Given the description of an element on the screen output the (x, y) to click on. 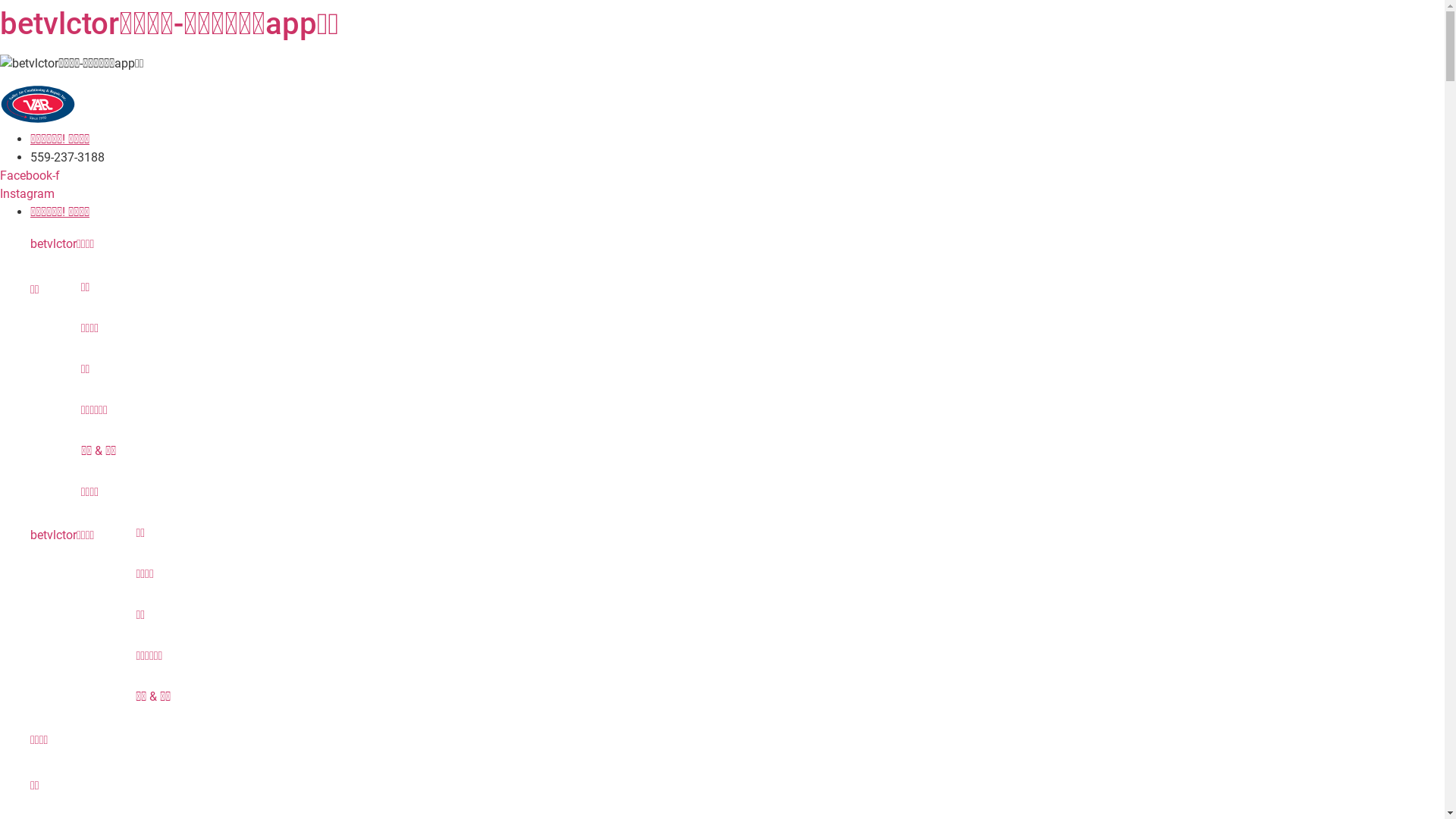
Instagram Element type: text (27, 193)
Facebook-f Element type: text (29, 175)
